Given the description of an element on the screen output the (x, y) to click on. 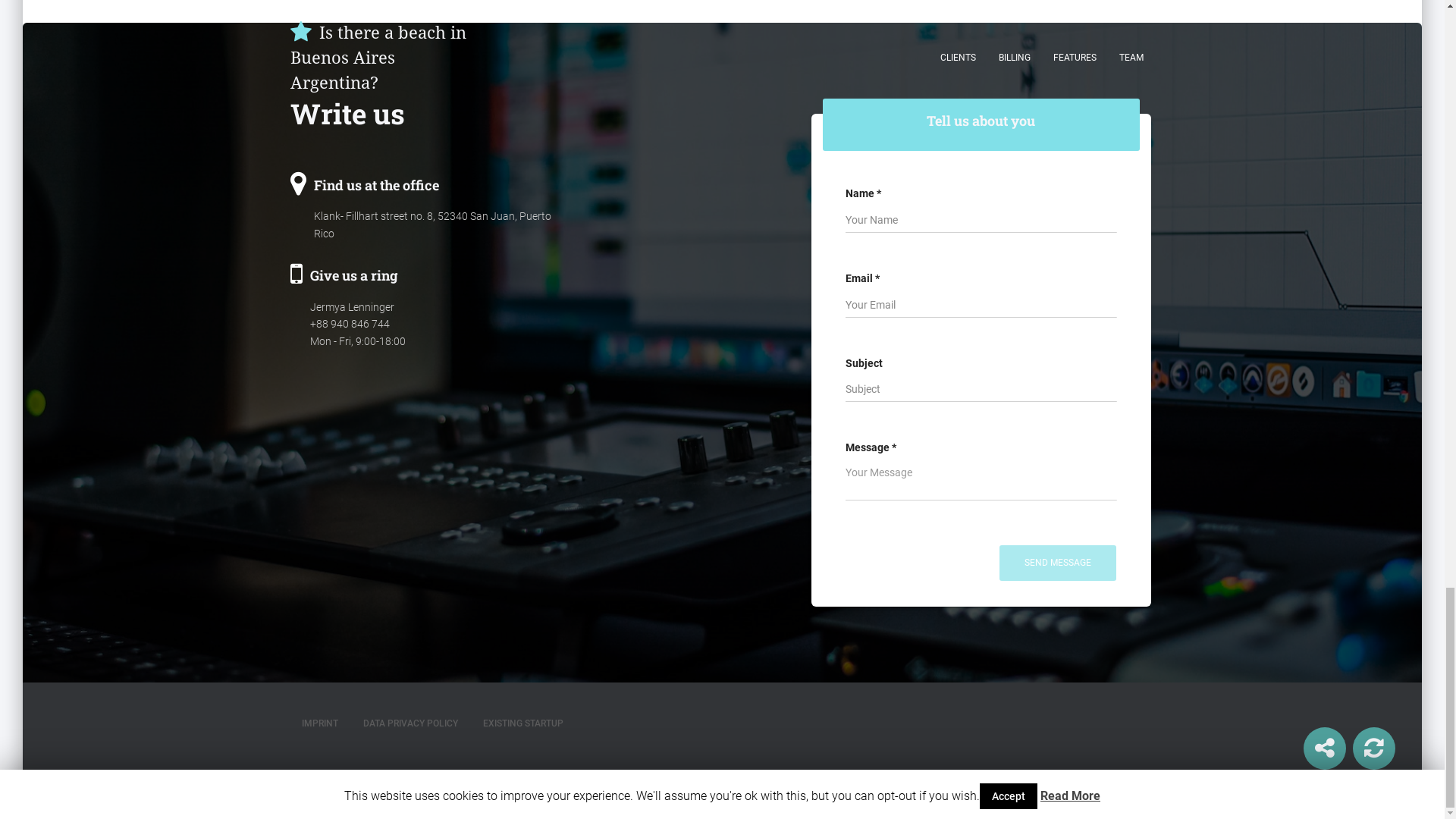
DATA PRIVACY POLICY (410, 723)
IMPRINT (319, 723)
SEND MESSAGE (1057, 562)
EXISTING STARTUP (523, 723)
